Given the description of an element on the screen output the (x, y) to click on. 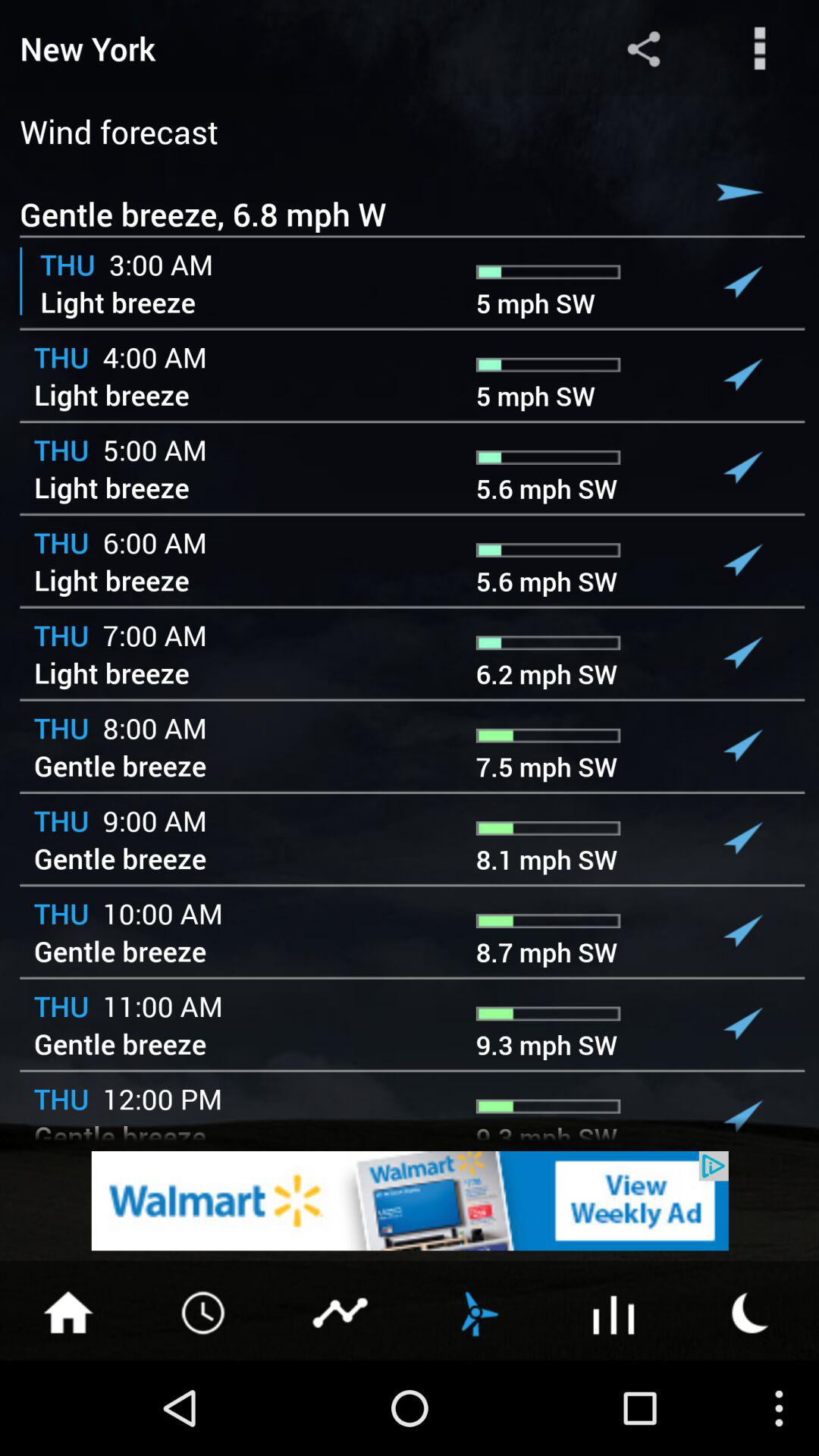
home (68, 1311)
